Given the description of an element on the screen output the (x, y) to click on. 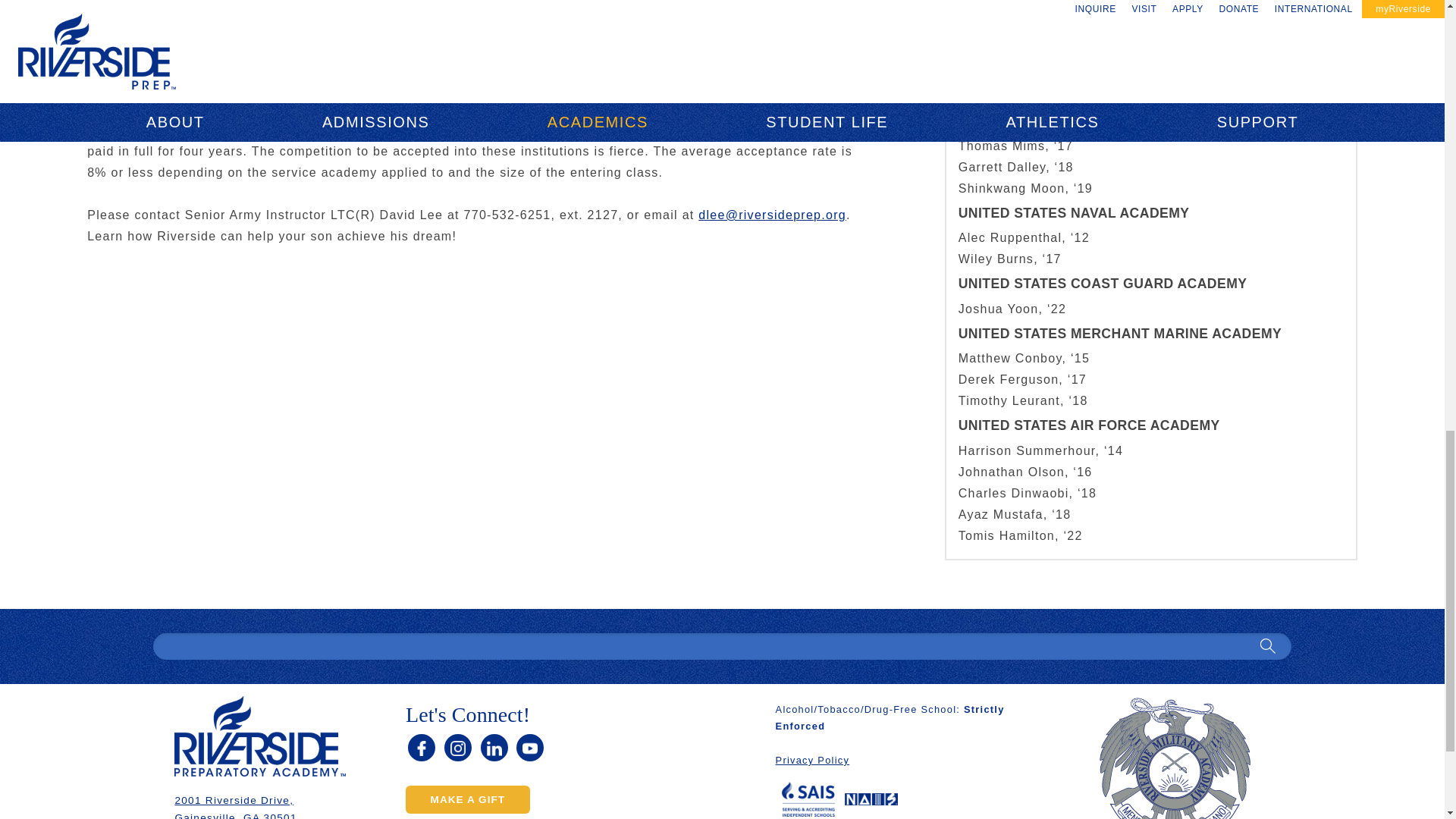
Go (1267, 646)
